Given the description of an element on the screen output the (x, y) to click on. 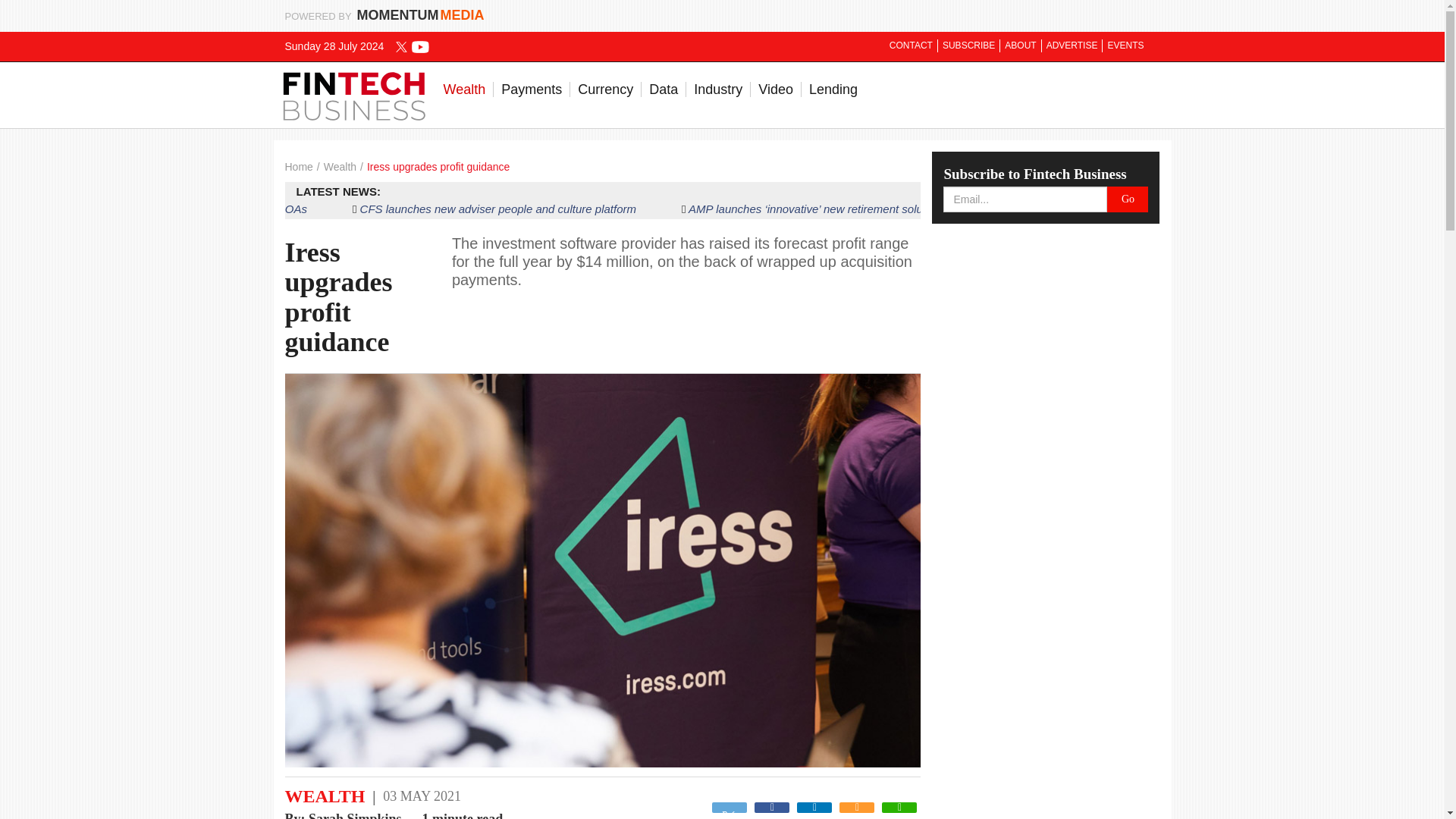
Lending (833, 89)
CONTACT (911, 45)
ABOUT (1020, 45)
ADVERTISE (1072, 45)
Go (1127, 199)
EVENTS (1125, 45)
Currency (606, 89)
Wealth (464, 89)
Video (776, 89)
Data (663, 89)
SUBSCRIBE (968, 45)
Industry (718, 89)
Payments (531, 89)
POWERED BY MOMENTUM MEDIA (384, 15)
